Given the description of an element on the screen output the (x, y) to click on. 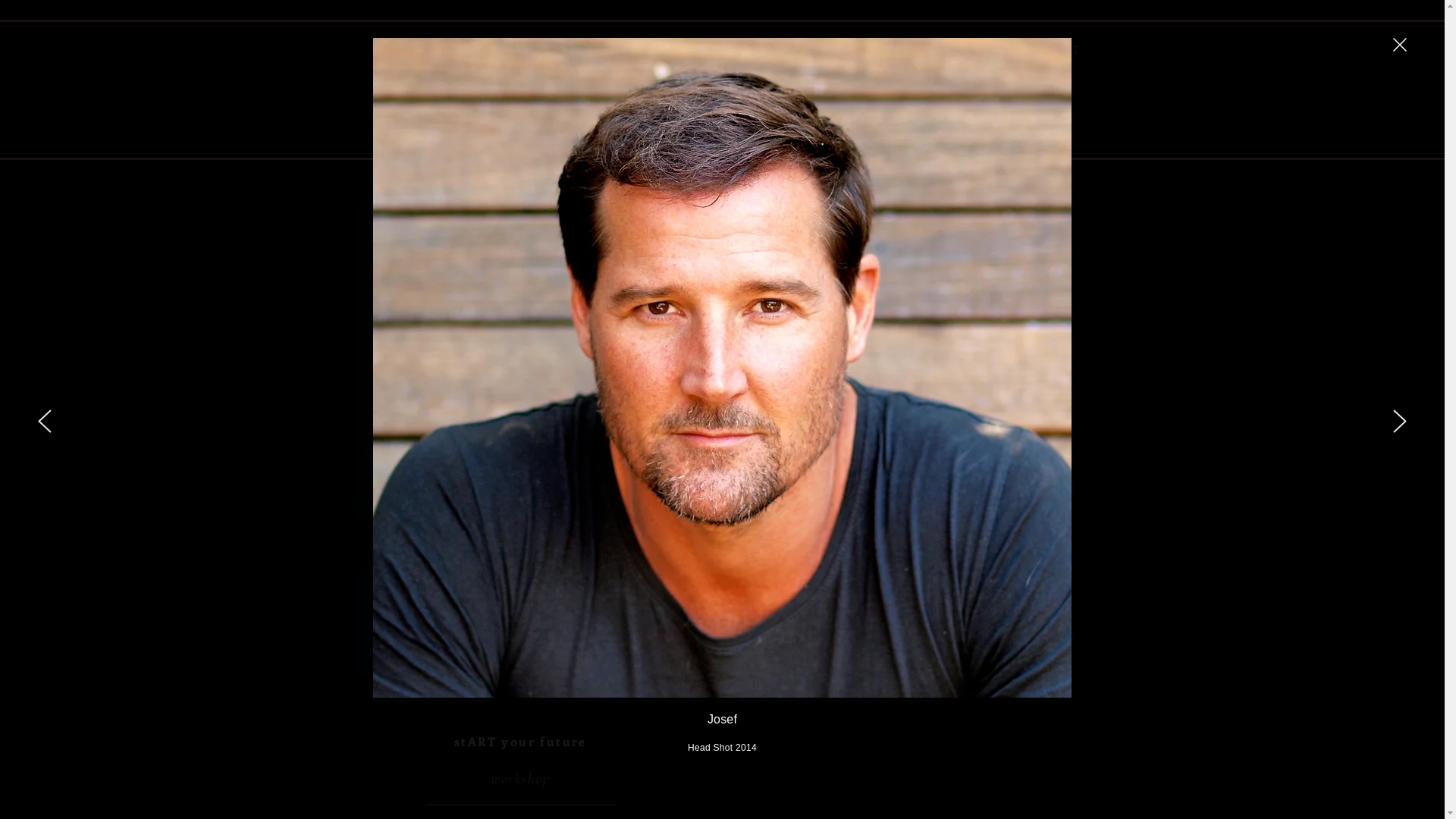
stART your future Element type: text (520, 741)
BIO Element type: text (909, 50)
CONTACT Element type: text (1021, 50)
HOME Element type: text (807, 50)
